Given the description of an element on the screen output the (x, y) to click on. 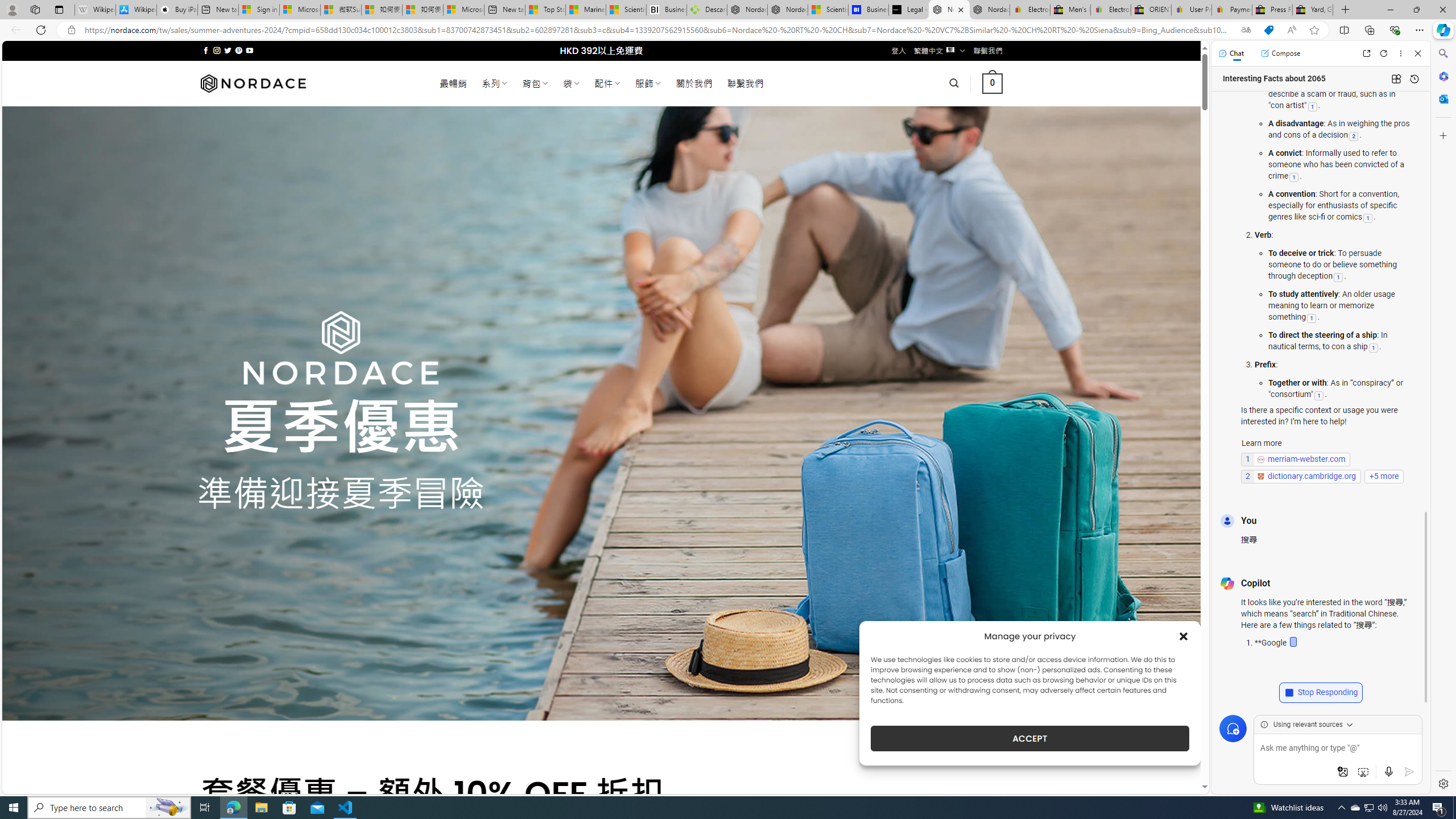
Class: cmplz-close (1183, 636)
User Privacy Notice | eBay (1191, 9)
